Given the description of an element on the screen output the (x, y) to click on. 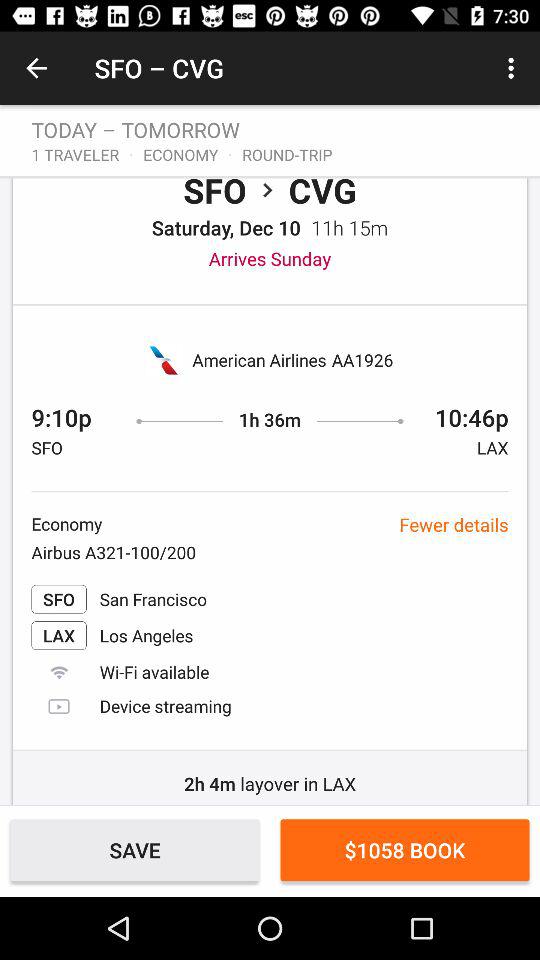
turn on the save item (134, 850)
